Given the description of an element on the screen output the (x, y) to click on. 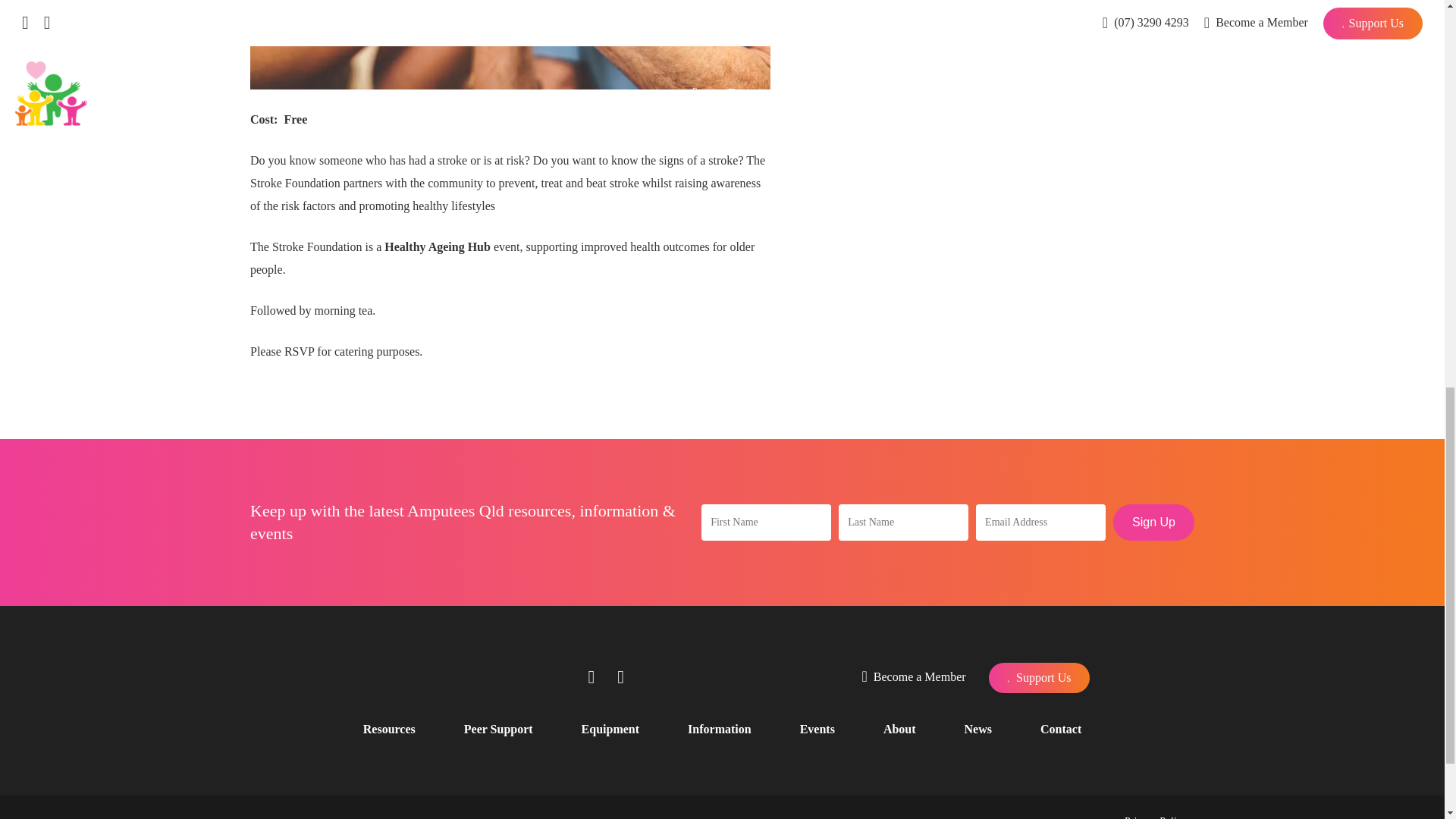
Peer Support (498, 729)
Sign Up (1153, 522)
Support Us (1039, 677)
Sign Up (1153, 522)
Become a Member (913, 677)
Resources (388, 729)
